Given the description of an element on the screen output the (x, y) to click on. 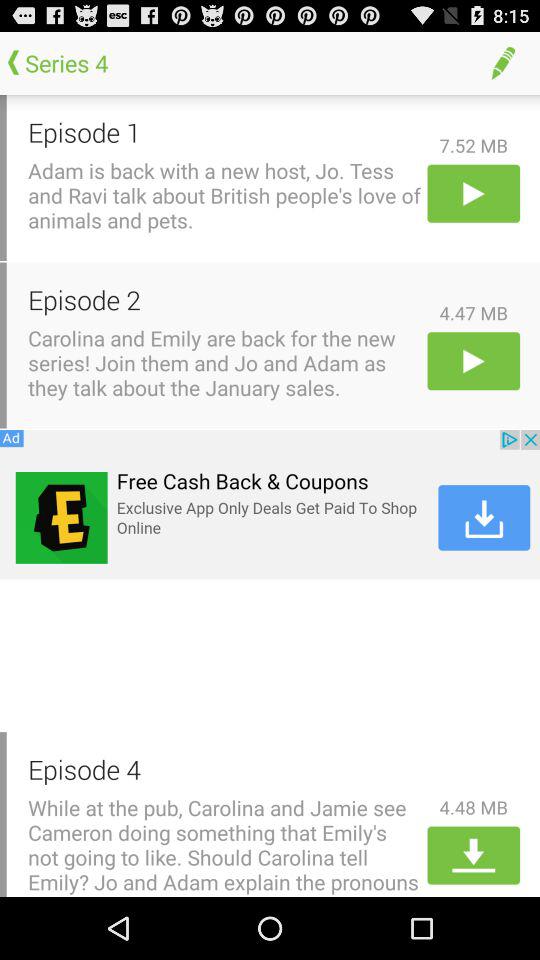
click the first play button on the web page (474, 192)
